Given the description of an element on the screen output the (x, y) to click on. 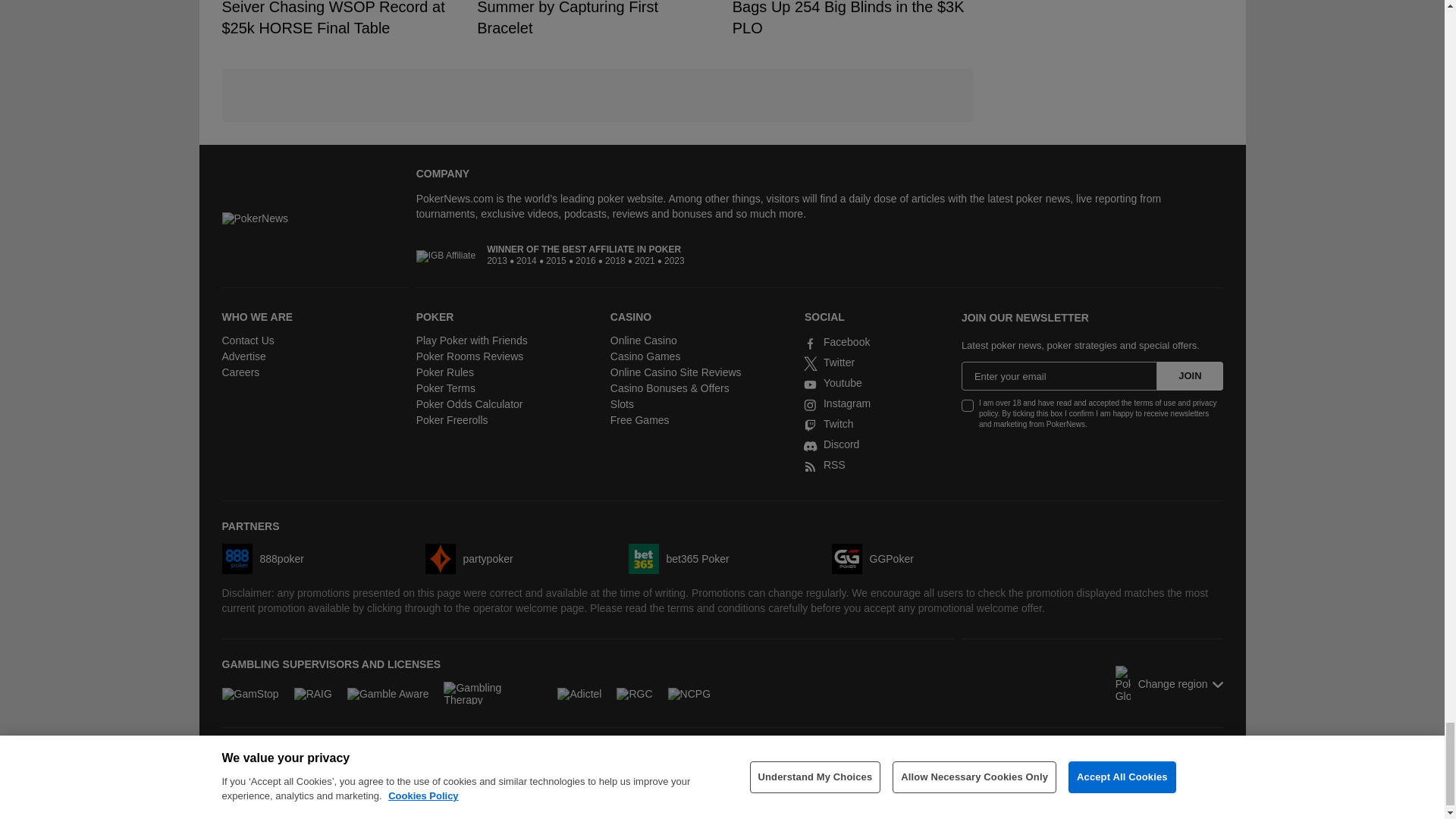
Raig (312, 693)
Adictel (579, 693)
Responsible Gambling Council (633, 693)
National Council on Problem Gambling (689, 693)
Gambling Therapy (492, 692)
GamStop (249, 693)
GambleAware (388, 693)
on (967, 405)
